Given the description of an element on the screen output the (x, y) to click on. 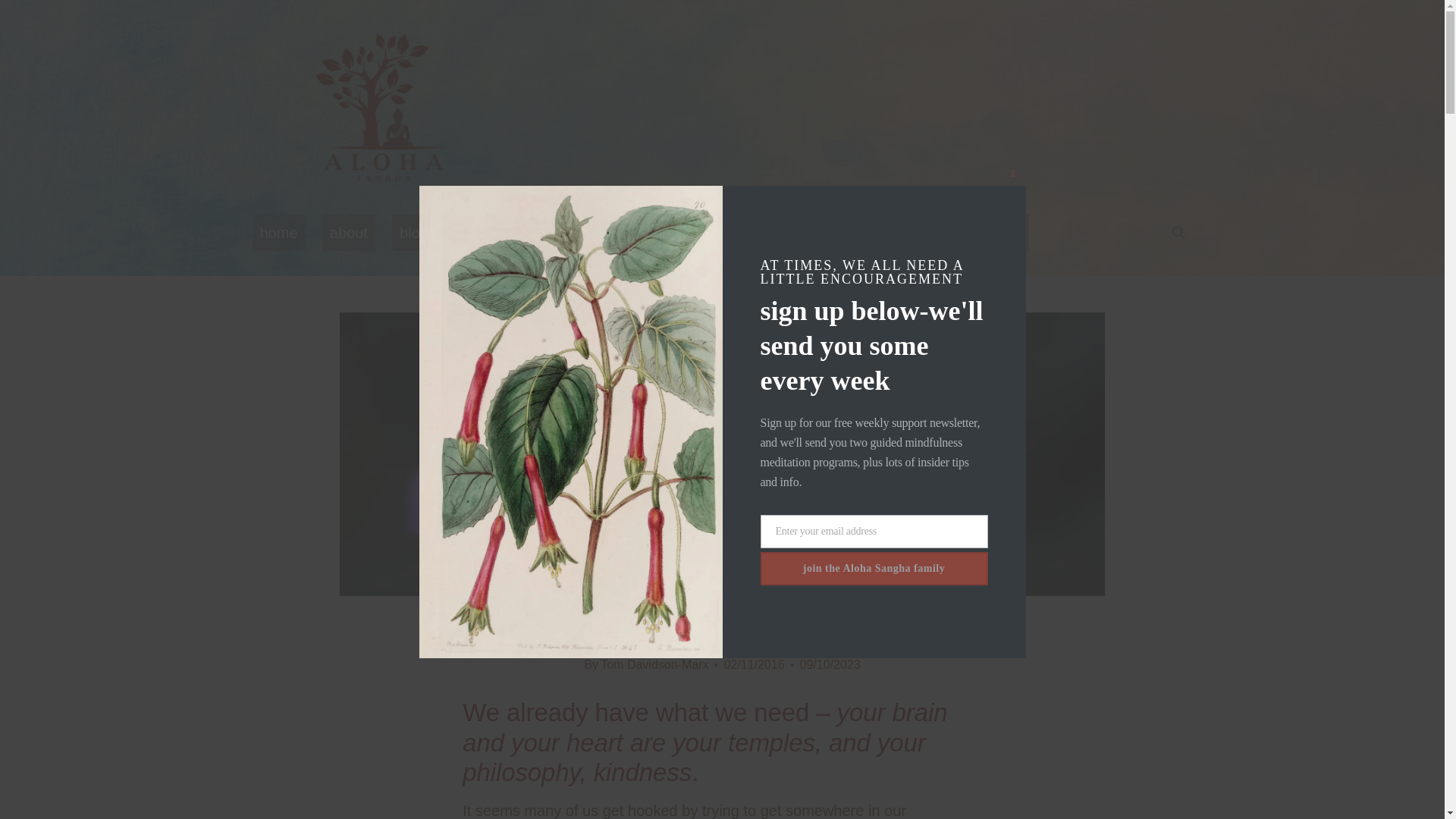
contact (997, 232)
signup (918, 232)
about (348, 232)
calendar (721, 232)
home (277, 232)
UNCATEGORIZED (721, 562)
resources (823, 232)
Tom Davidson-Marx (653, 664)
weekly sessions (605, 232)
blog (413, 232)
teachers (488, 232)
